Given the description of an element on the screen output the (x, y) to click on. 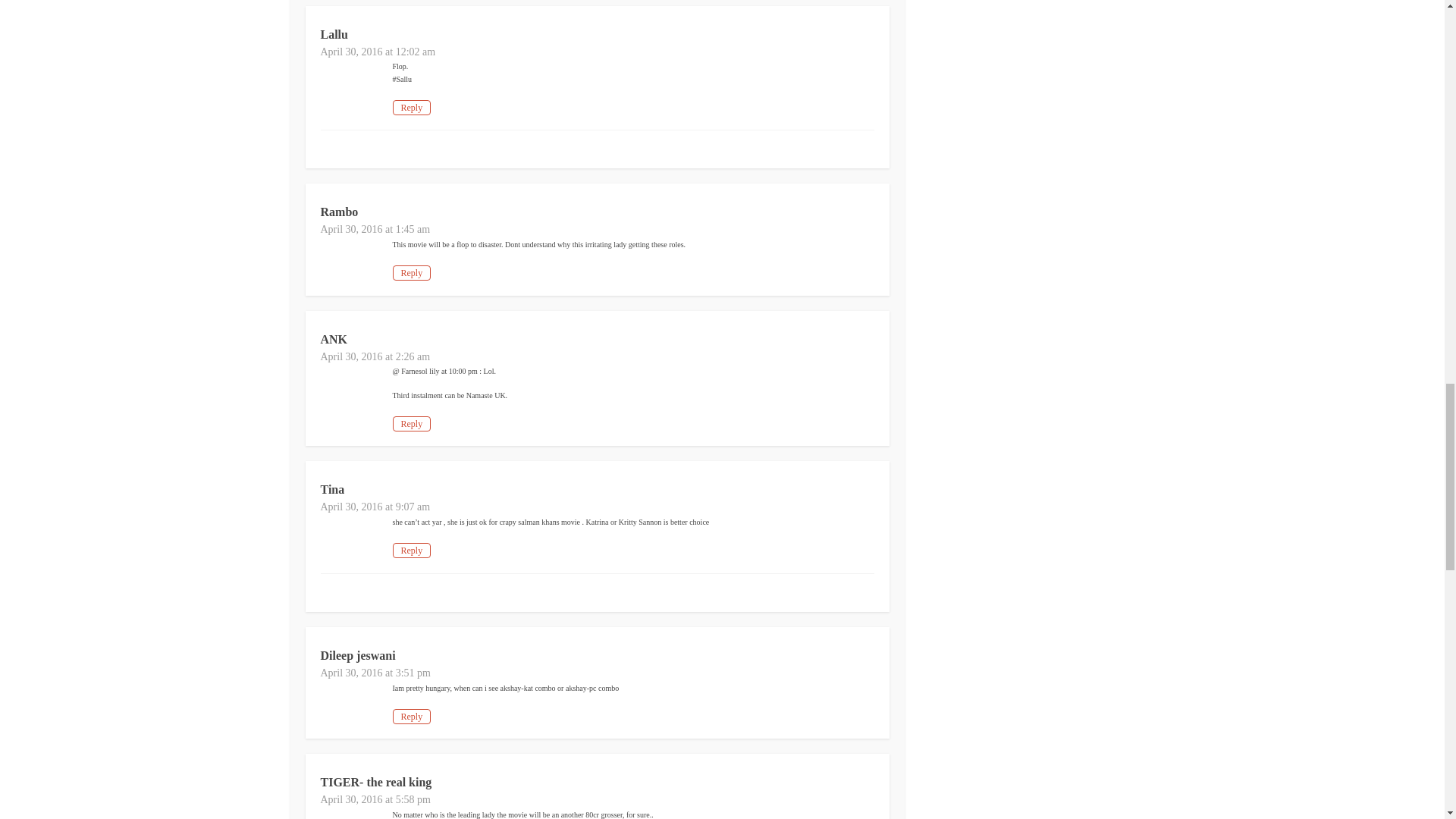
April 30, 2016 at 1:45 am (374, 229)
April 30, 2016 at 2:26 am (374, 356)
Reply (411, 549)
Reply (411, 423)
April 30, 2016 at 9:07 am (374, 506)
Reply (411, 107)
April 30, 2016 at 12:02 am (377, 51)
Reply (411, 272)
